Given the description of an element on the screen output the (x, y) to click on. 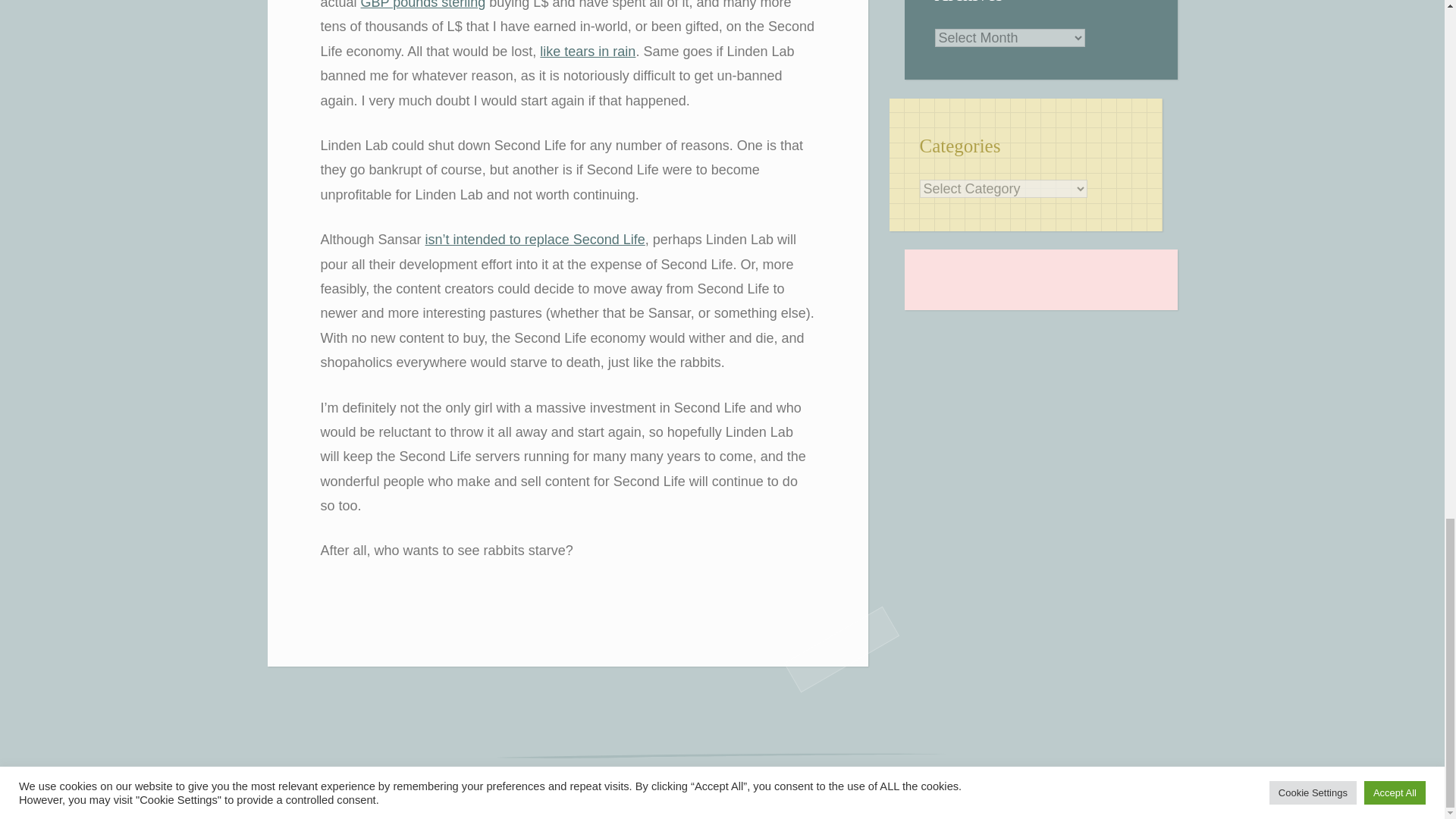
like tears in rain (587, 51)
GBP pounds sterling (423, 4)
